Given the description of an element on the screen output the (x, y) to click on. 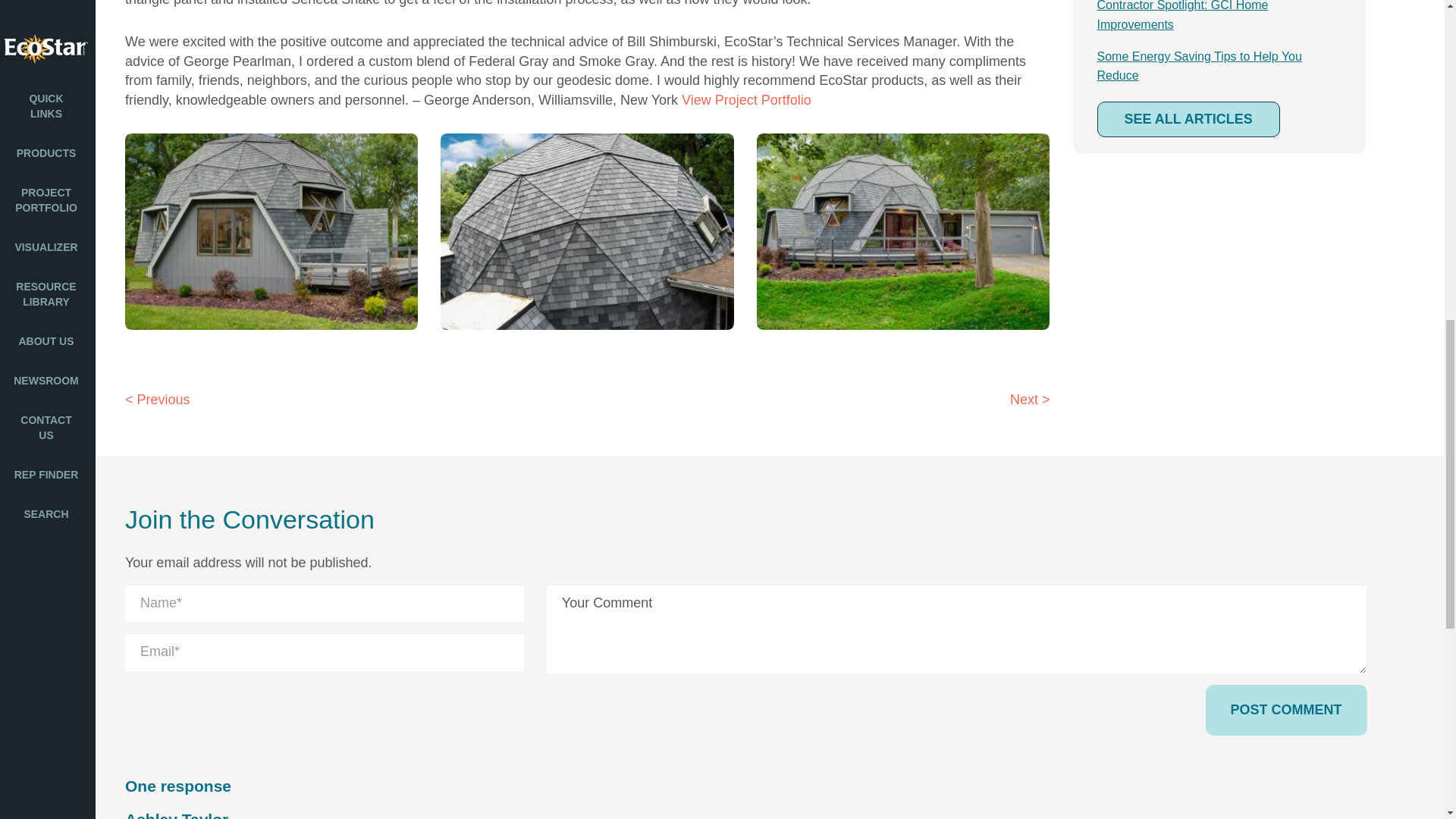
Some Energy Saving Tips to Help You Reduce (1198, 65)
View Project Portfolio (745, 99)
Post Comment (1286, 710)
Contractor Spotlight: GCI Home Improvements (1182, 15)
